Given the description of an element on the screen output the (x, y) to click on. 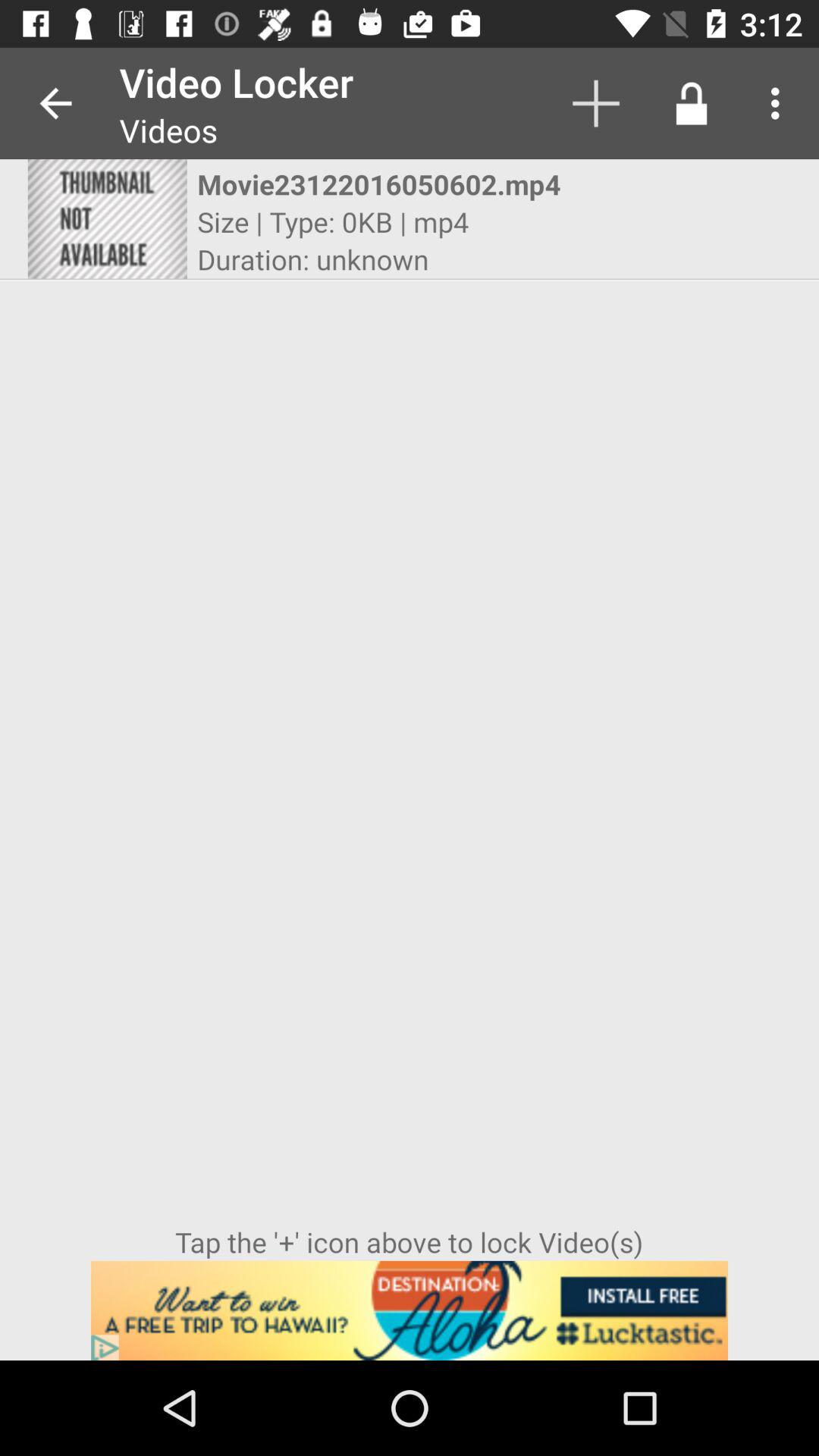
tap icon above tap the icon item (107, 218)
